Given the description of an element on the screen output the (x, y) to click on. 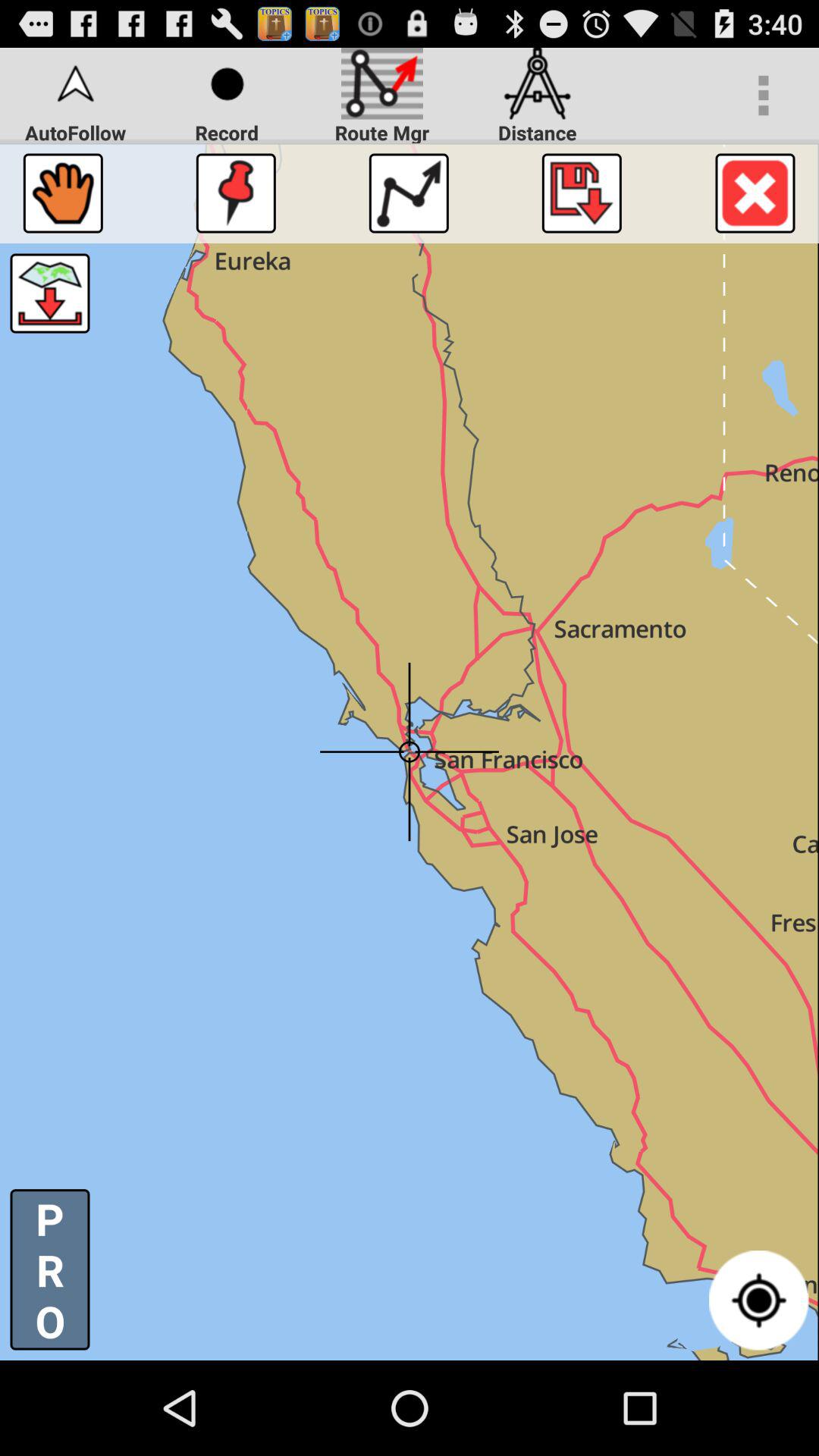
swipe until the p
r
o (49, 1269)
